Given the description of an element on the screen output the (x, y) to click on. 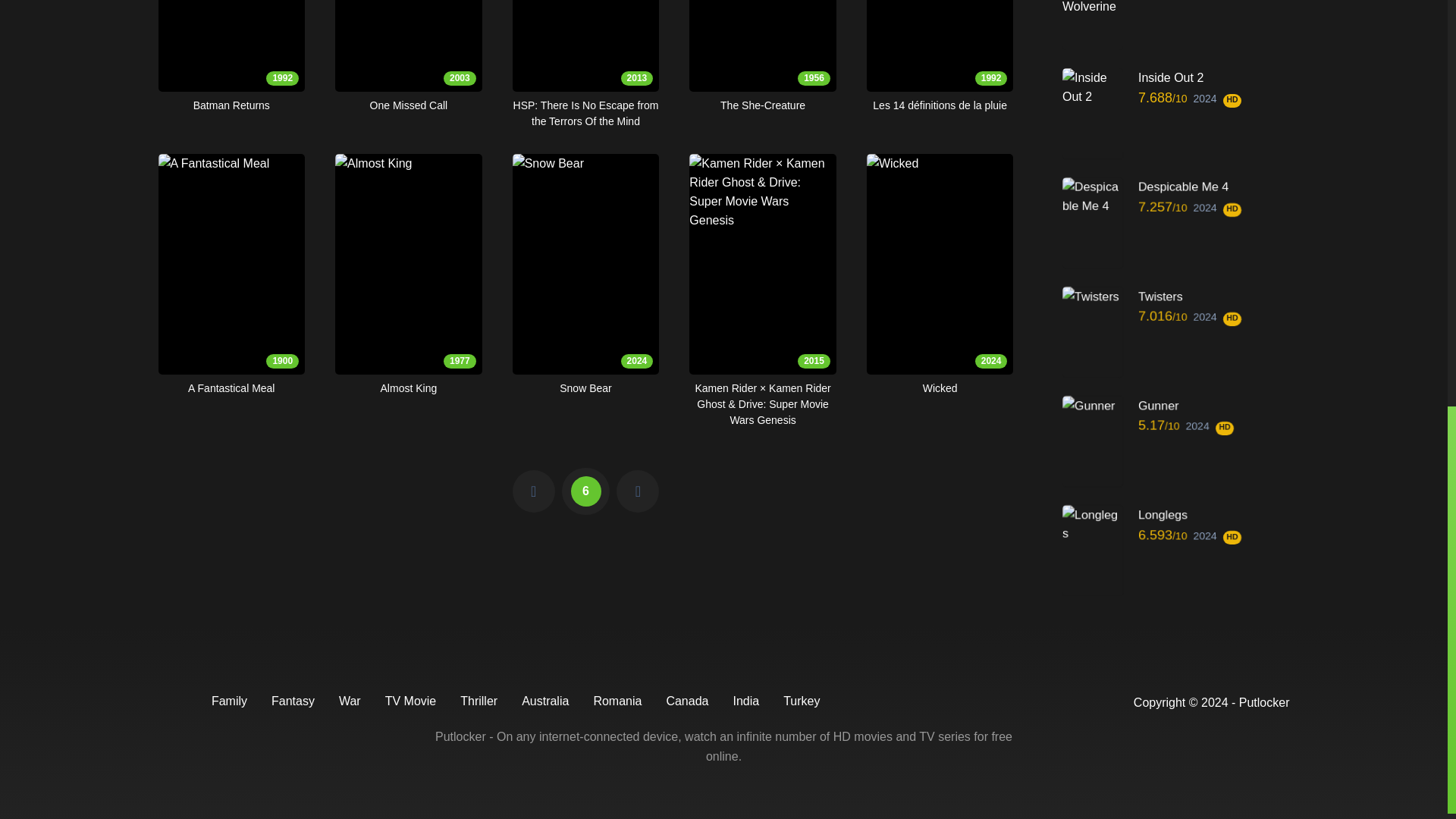
6 (230, 56)
